Given the description of an element on the screen output the (x, y) to click on. 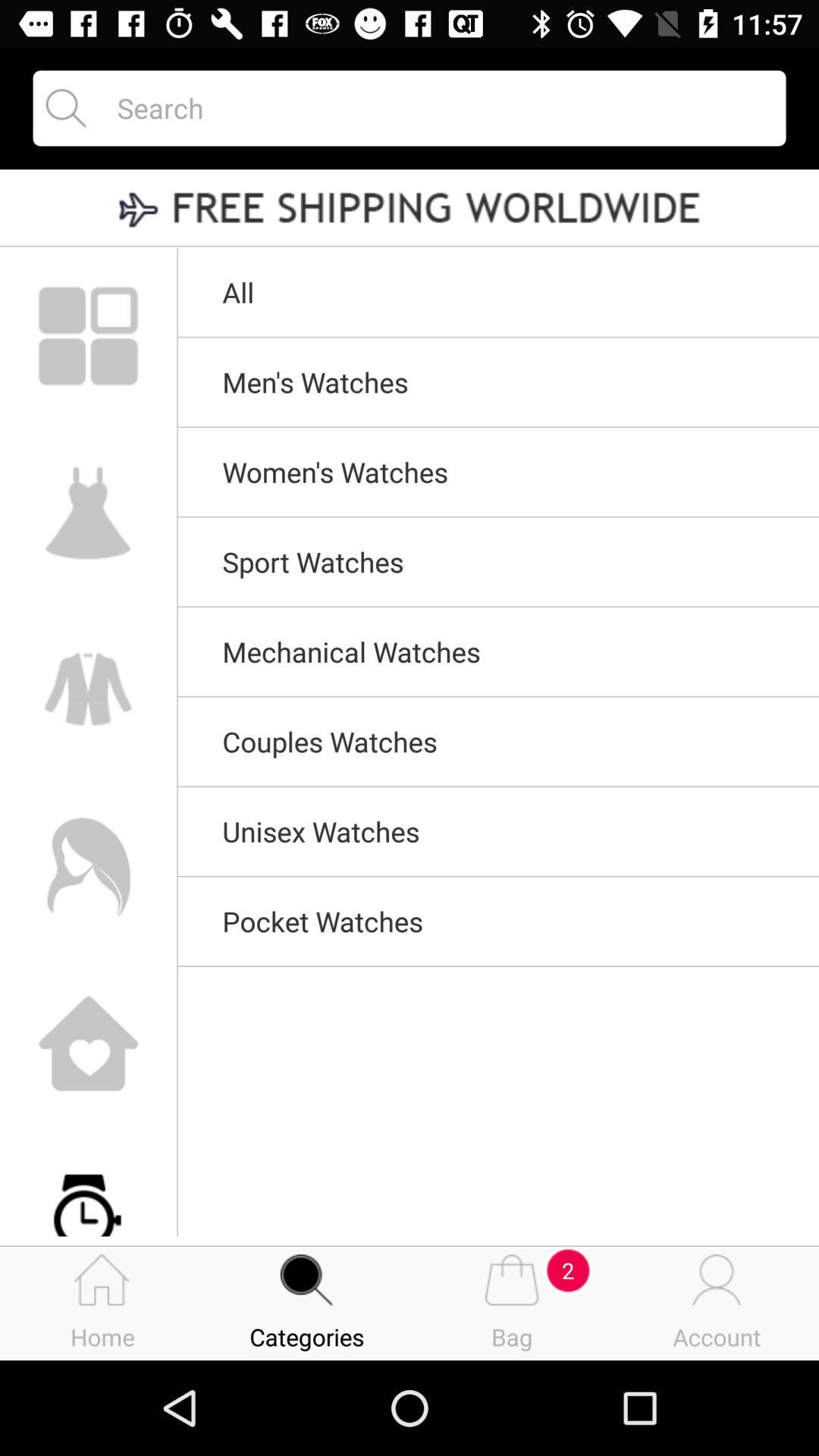
search text box (437, 108)
